Given the description of an element on the screen output the (x, y) to click on. 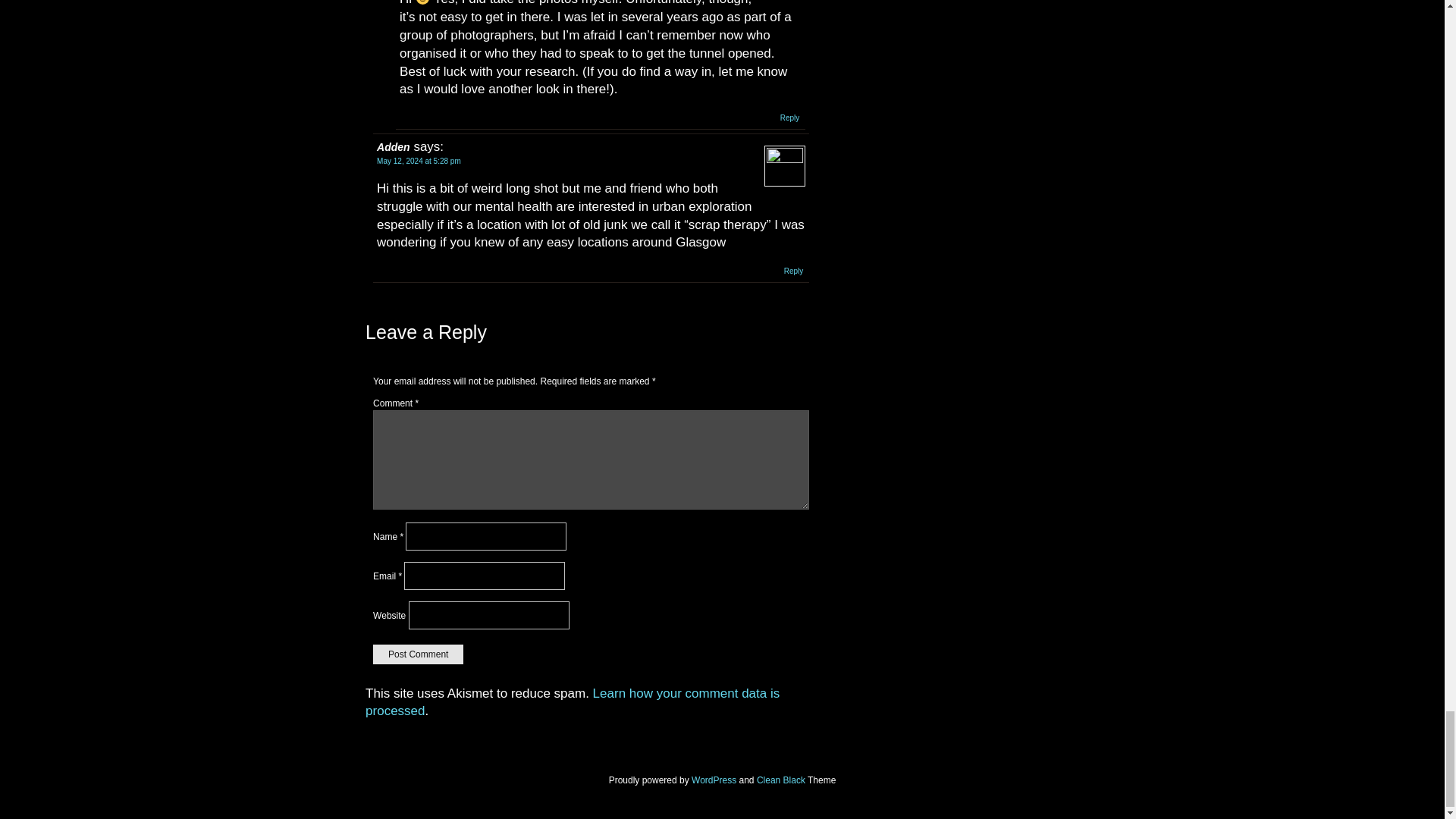
Post Comment (417, 654)
